Given the description of an element on the screen output the (x, y) to click on. 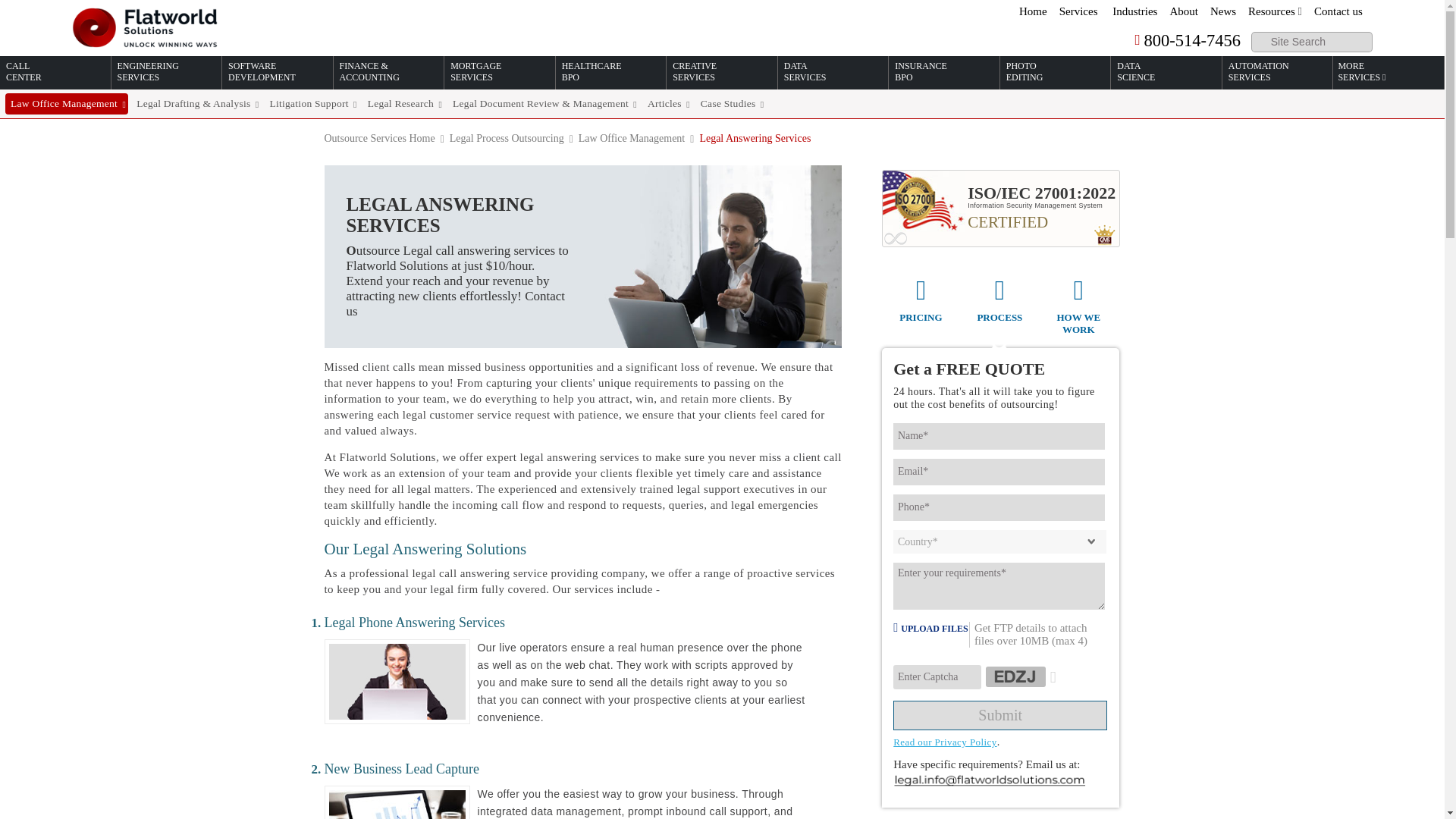
GMS INTERCERT SERVICES (1103, 233)
Submit (999, 715)
Contact us (1337, 10)
Home (1032, 10)
Services (1077, 10)
Outsource Legal Answering Services (583, 256)
Flatworld Solutions (146, 27)
News (1222, 10)
About (1183, 10)
800-514-7456 (1181, 40)
Resources (1274, 10)
Industries (1134, 10)
